Given the description of an element on the screen output the (x, y) to click on. 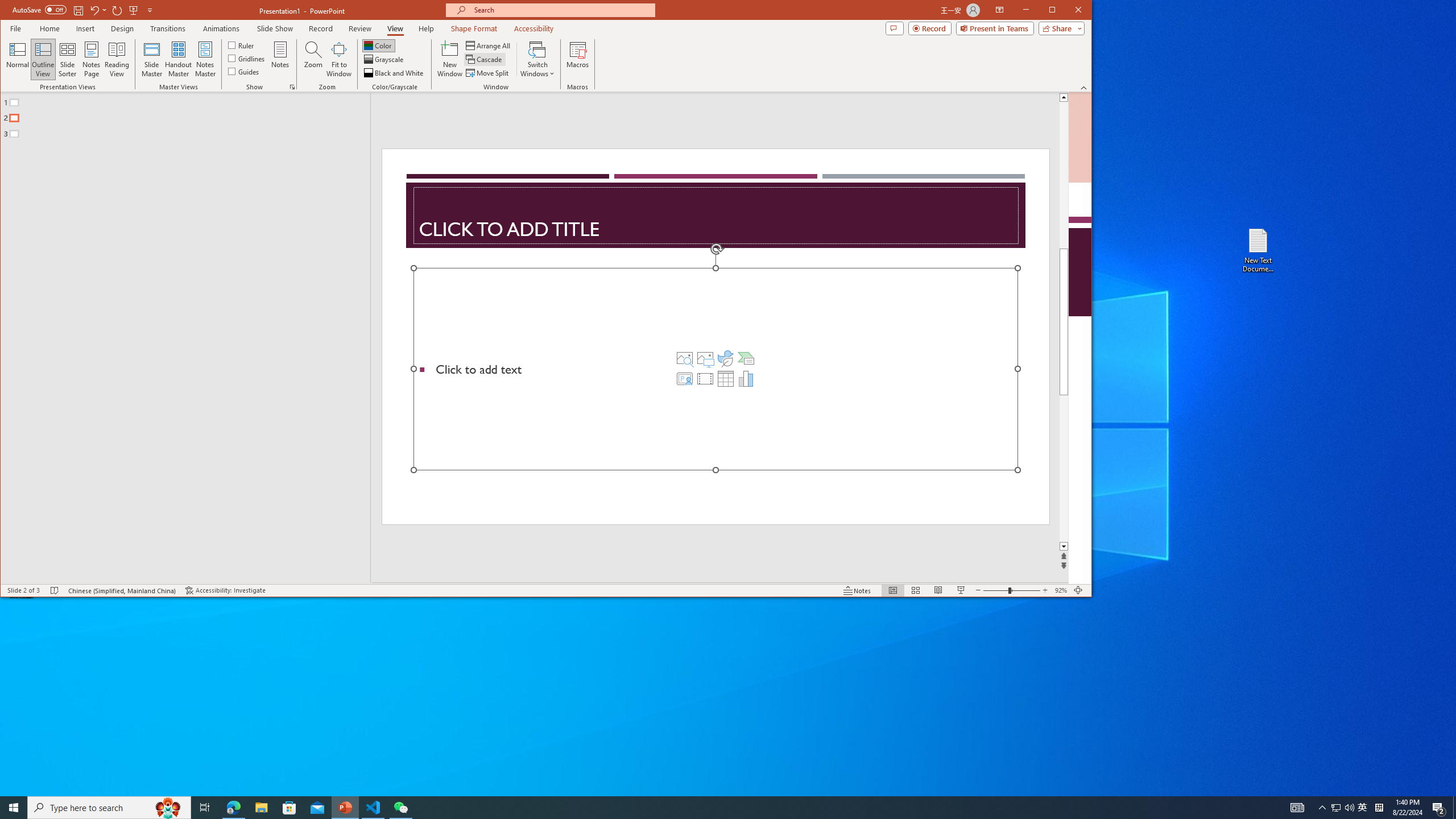
Guides (243, 70)
Macros (576, 59)
Grayscale (384, 59)
Insert Video (704, 378)
Stock Images (684, 357)
Fit to Window (338, 59)
